Given the description of an element on the screen output the (x, y) to click on. 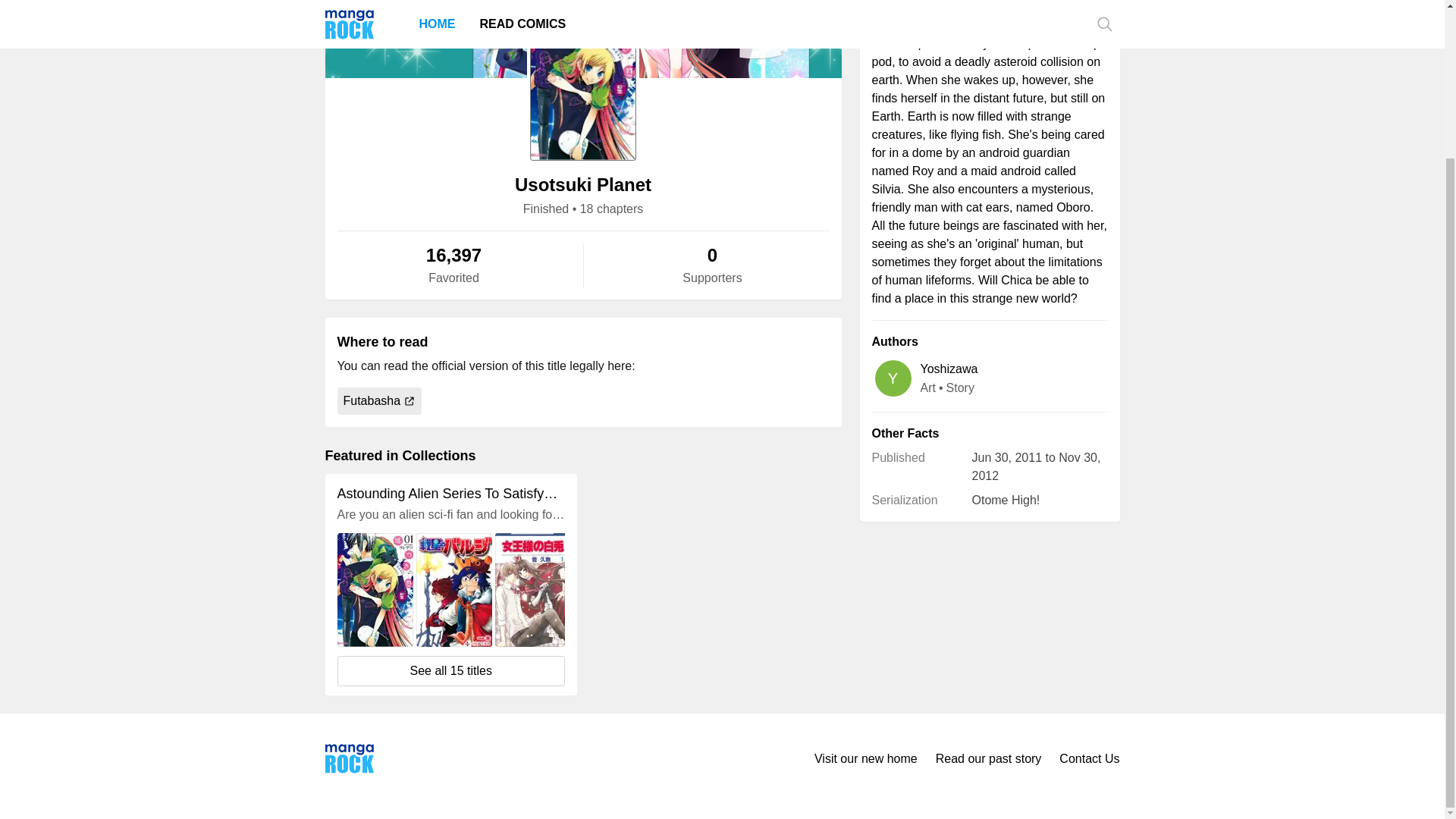
Yoshizawa (949, 368)
Read our past story (989, 758)
Contact Us (1089, 758)
See all 15 titles (450, 671)
Futabasha (379, 400)
Visit our new home (865, 758)
